Given the description of an element on the screen output the (x, y) to click on. 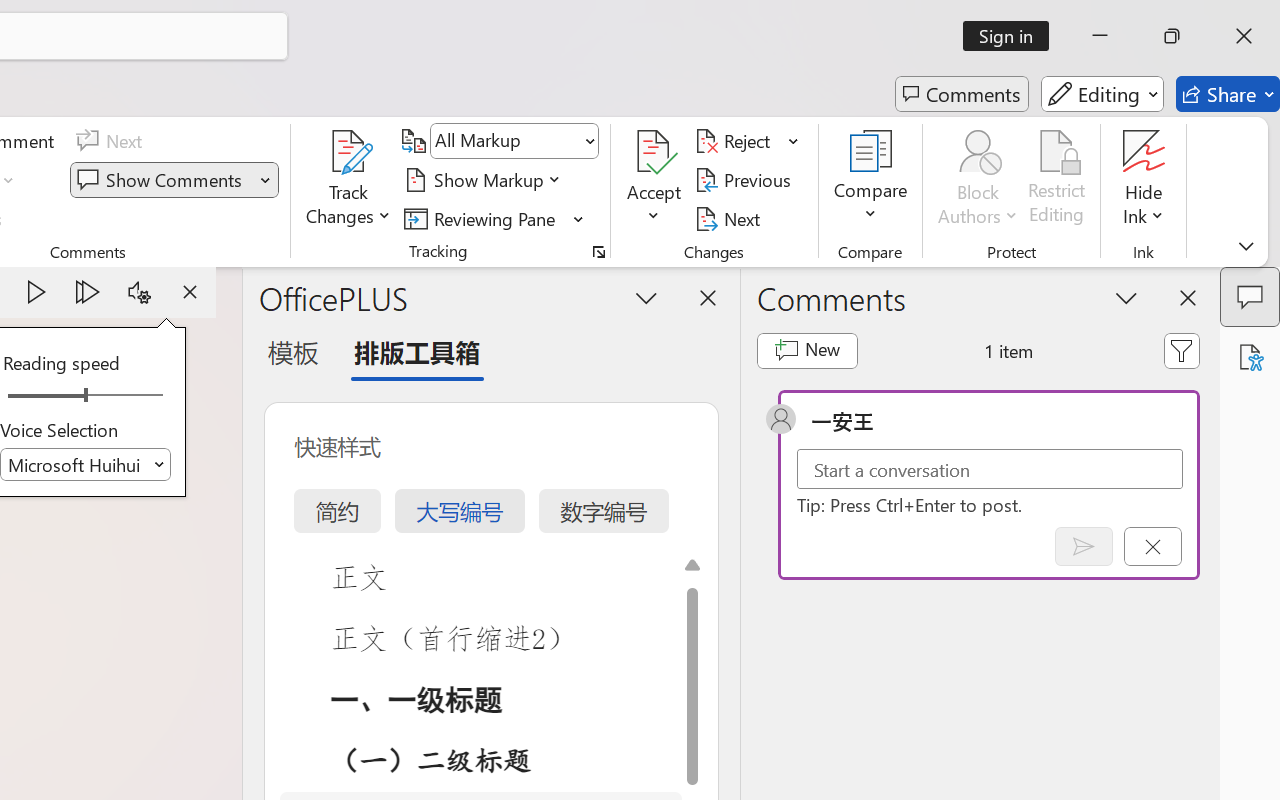
Page left (40, 395)
Voice Selection (85, 464)
Reject (747, 141)
Next (730, 218)
Reject and Move to Next (735, 141)
Hide Ink (1144, 151)
Page right (129, 395)
